Given the description of an element on the screen output the (x, y) to click on. 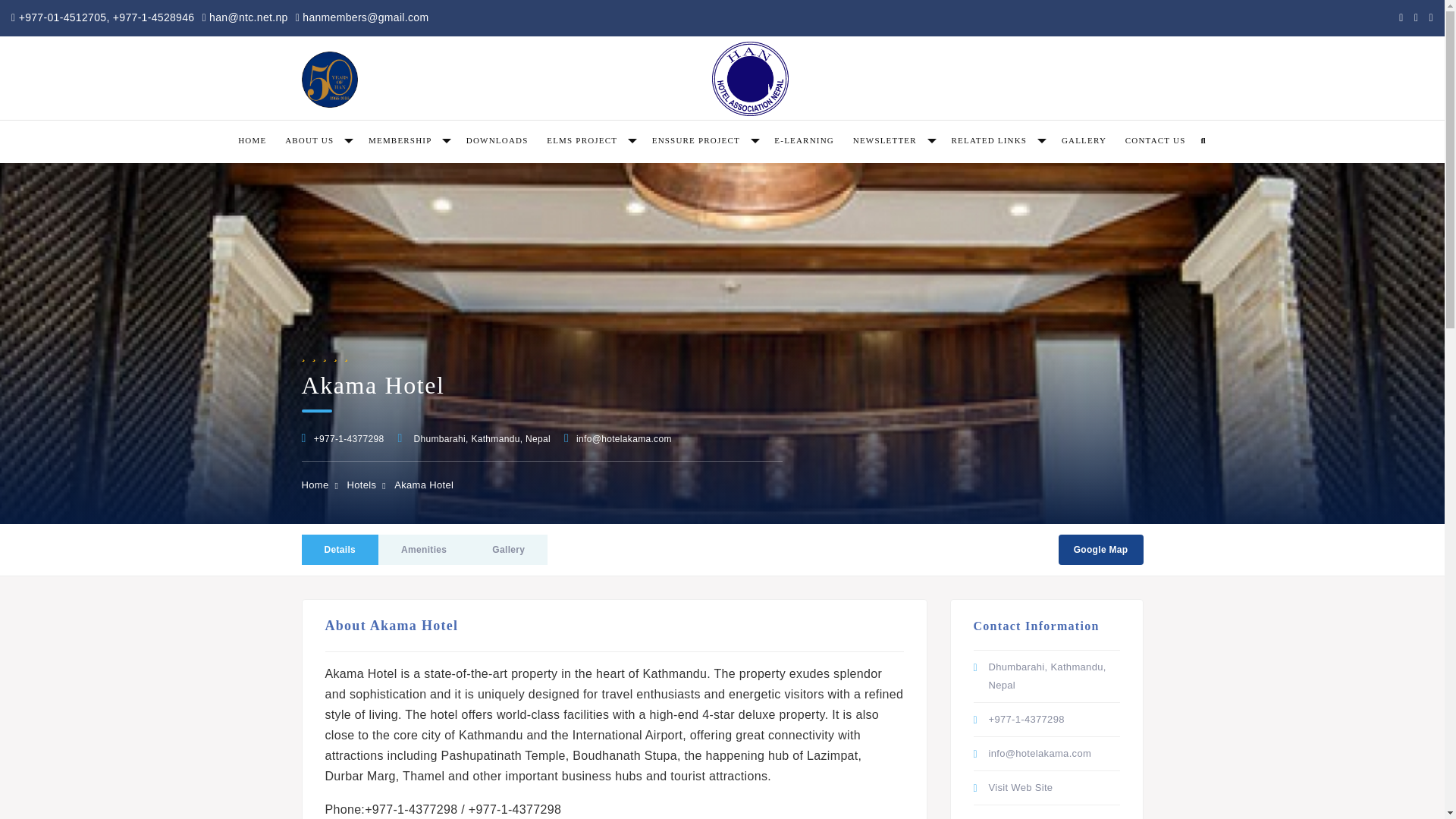
HOME (251, 139)
DOWNLOADS (496, 139)
Hotel Association Nepal (329, 79)
ABOUT US (317, 139)
MEMBERSHIP (407, 139)
Hotel Association Nepal (750, 78)
ELMS PROJECT (589, 139)
